Given the description of an element on the screen output the (x, y) to click on. 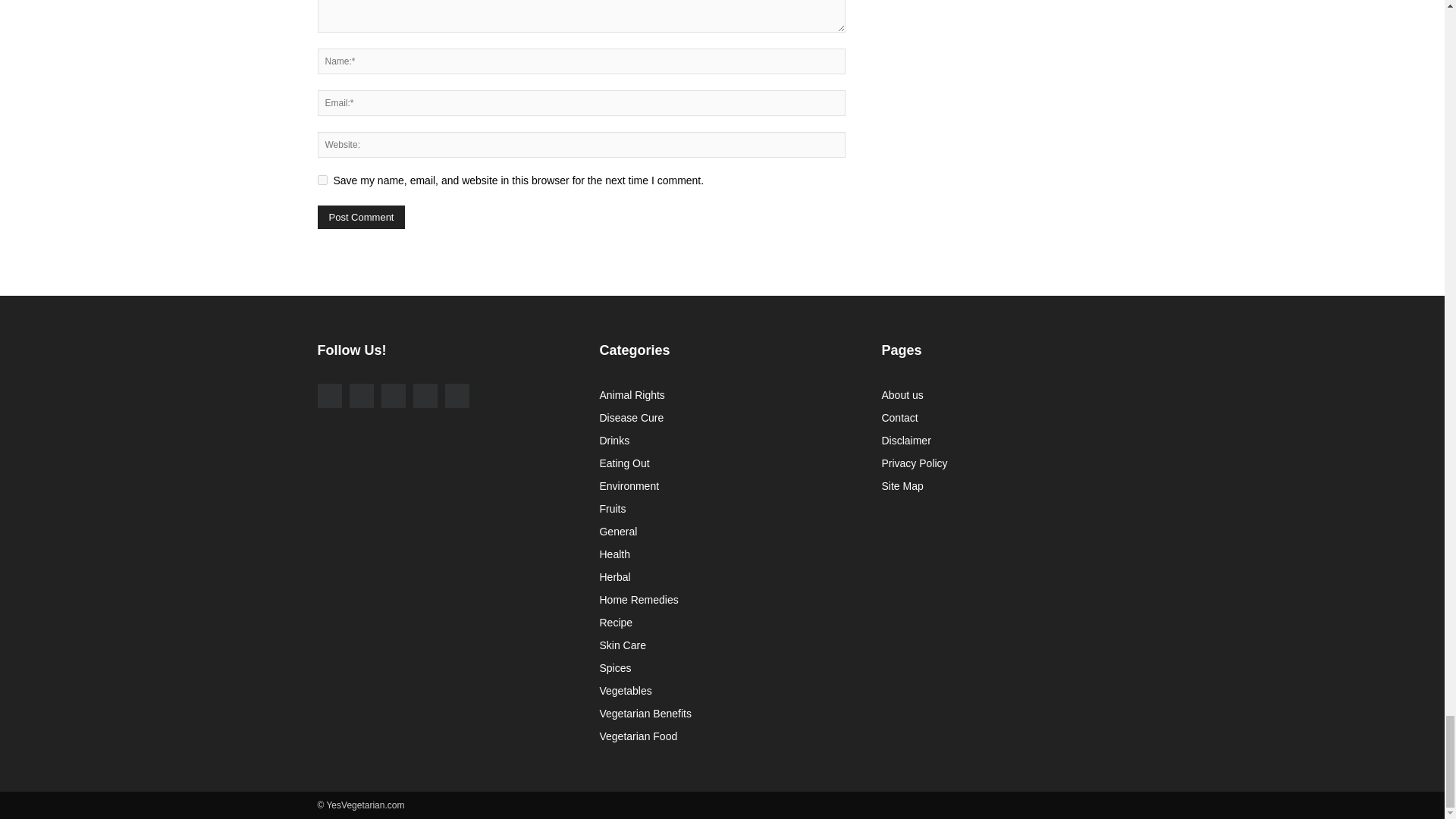
Follow Us on Twitter (392, 395)
Follow Us on Pinterest (424, 395)
Follow Us on Facebook (328, 395)
Post Comment (360, 217)
yes (321, 180)
